Given the description of an element on the screen output the (x, y) to click on. 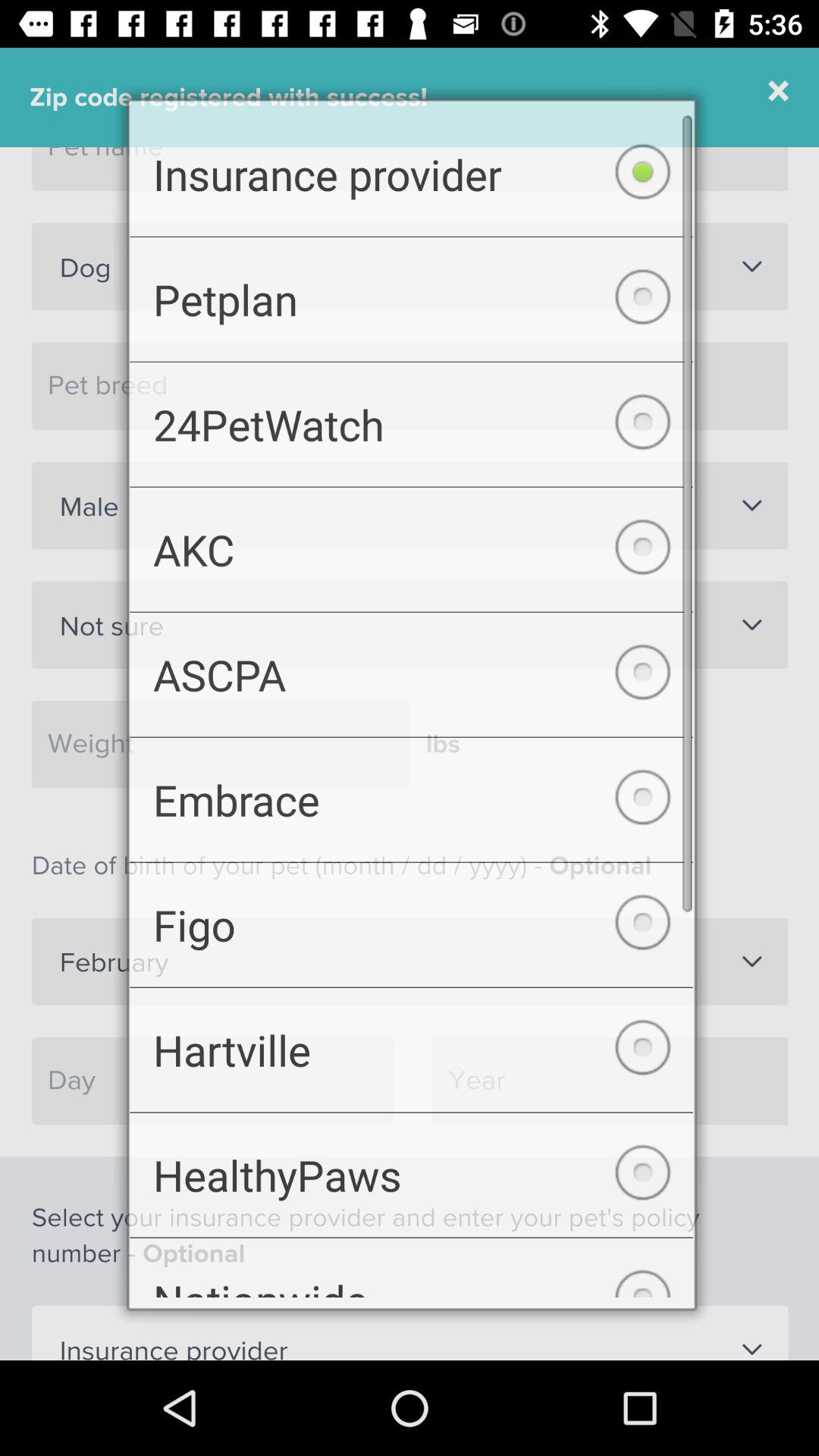
flip until figo checkbox (411, 930)
